Given the description of an element on the screen output the (x, y) to click on. 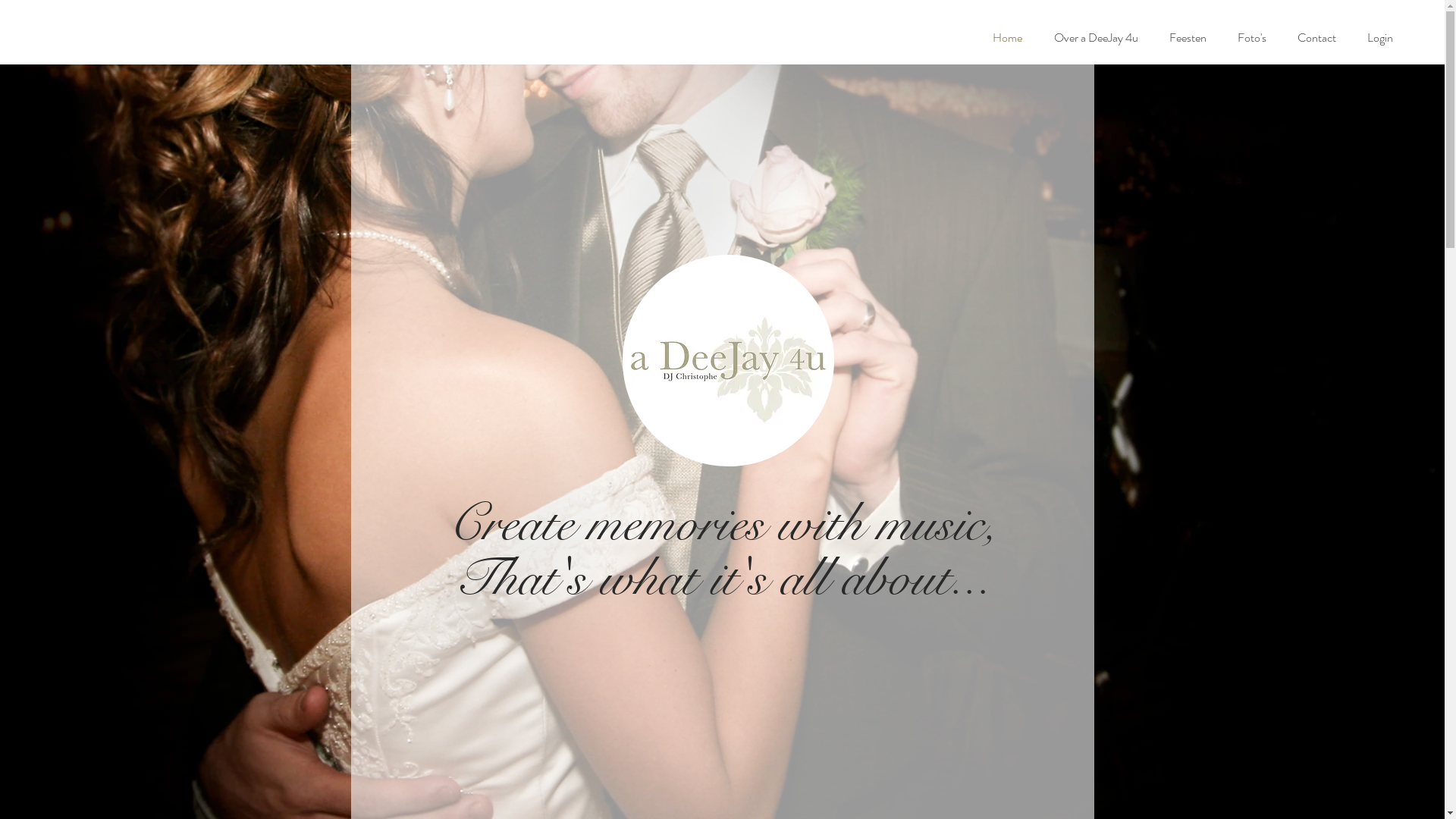
Over a DeeJay 4u Element type: text (1095, 37)
Feesten Element type: text (1187, 37)
Contact Element type: text (1316, 37)
Foto's Element type: text (1251, 37)
Login Element type: text (1379, 37)
Home Element type: text (1007, 37)
